Given the description of an element on the screen output the (x, y) to click on. 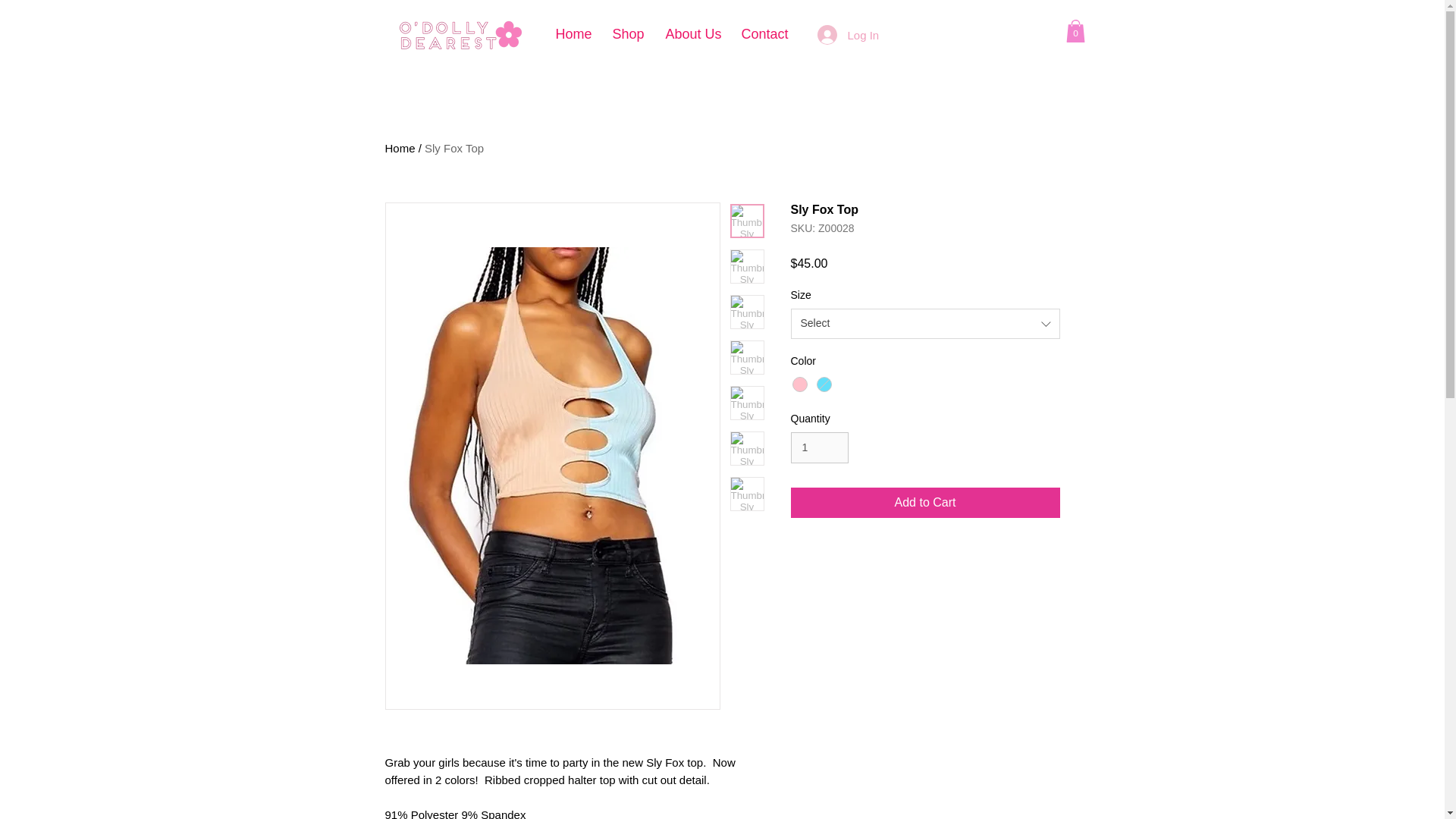
Log In (838, 34)
1 (818, 447)
About Us (691, 34)
Sly Fox Top (454, 147)
Shop (626, 34)
Home (399, 147)
Contact (762, 34)
Home (572, 34)
Add to Cart (924, 502)
Select (924, 323)
